Given the description of an element on the screen output the (x, y) to click on. 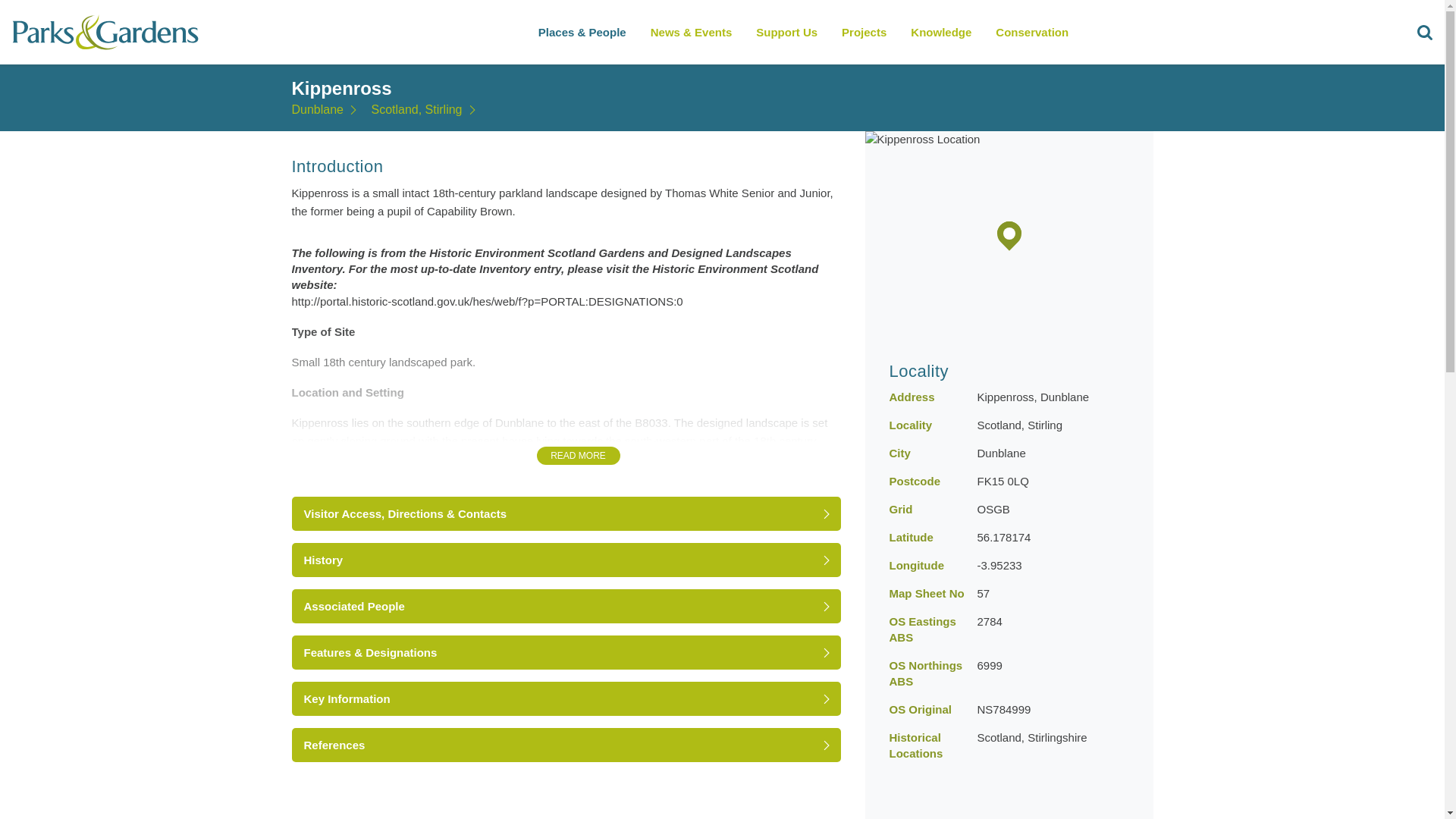
Knowledge (940, 32)
Projects (863, 32)
Scotland, Stirling (425, 110)
Advertisement (1008, 800)
Dunblane (326, 110)
Support Us (786, 32)
READ MORE (578, 455)
Conservation (1032, 32)
